Given the description of an element on the screen output the (x, y) to click on. 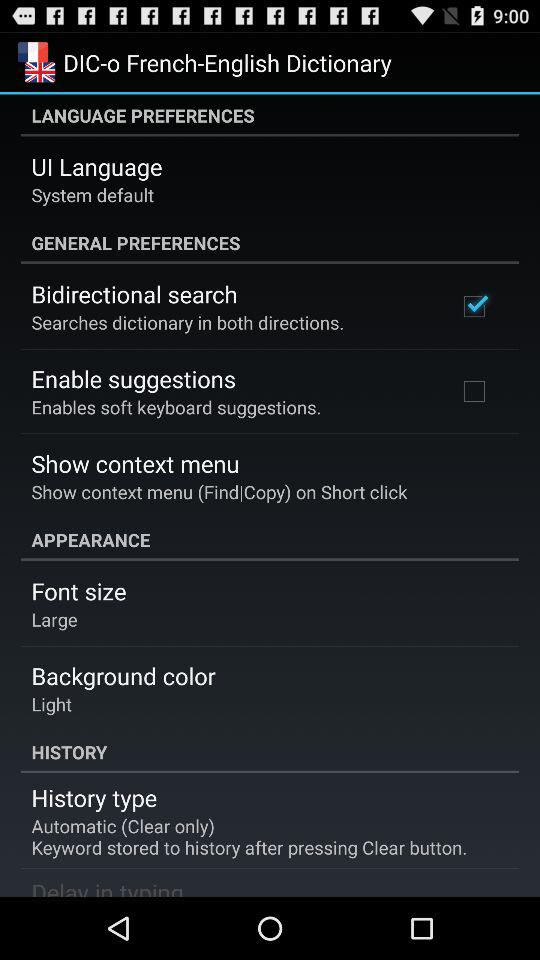
tap the icon below appearance icon (78, 591)
